Given the description of an element on the screen output the (x, y) to click on. 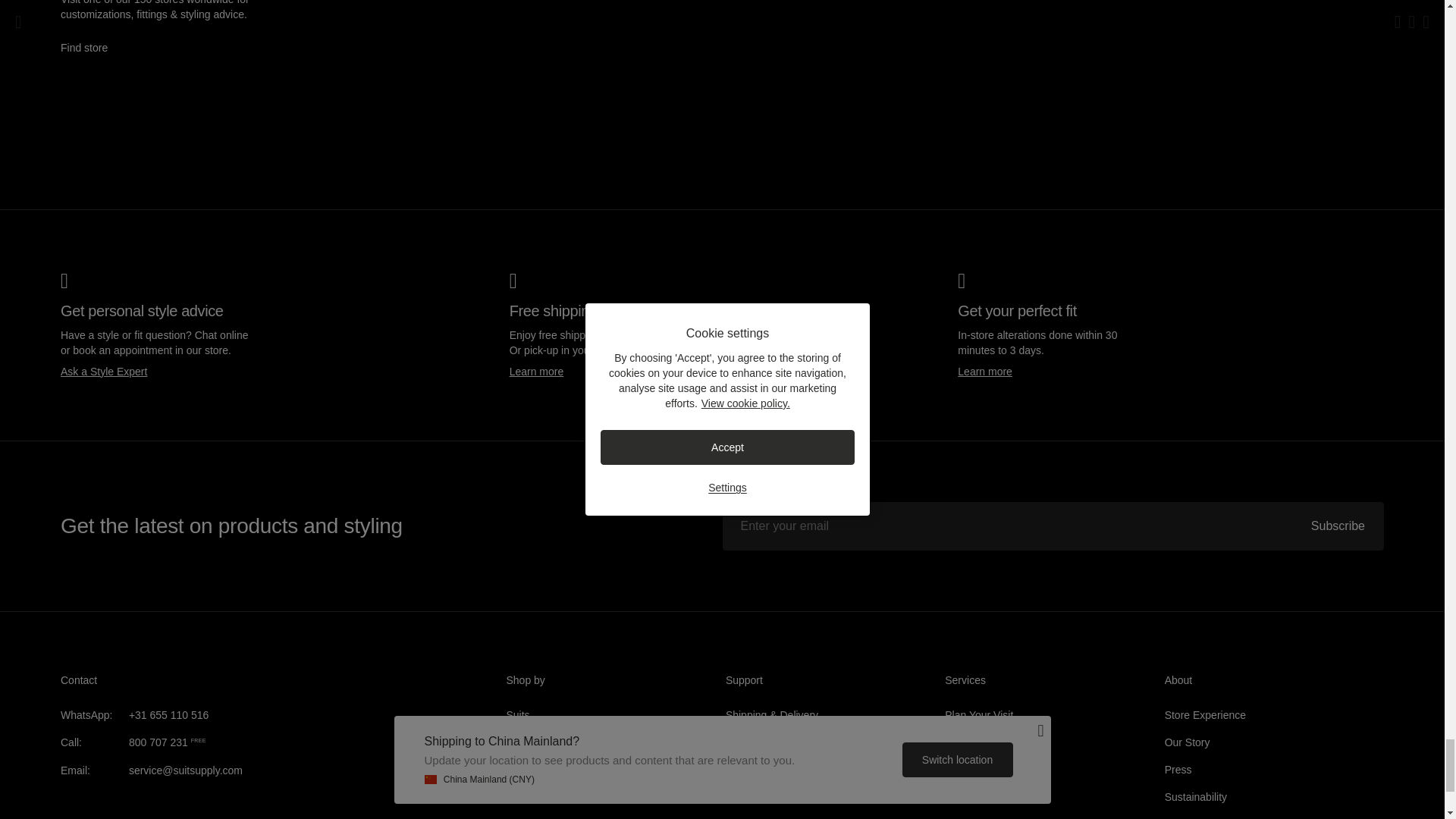
Get your perfect fit (984, 371)
Plan your visit (978, 715)
Perfect Fit Guides (767, 769)
Suits (517, 715)
Alterations (969, 769)
Email (186, 770)
Trousers (527, 769)
FAQ (735, 797)
WhatsApp (169, 715)
